Given the description of an element on the screen output the (x, y) to click on. 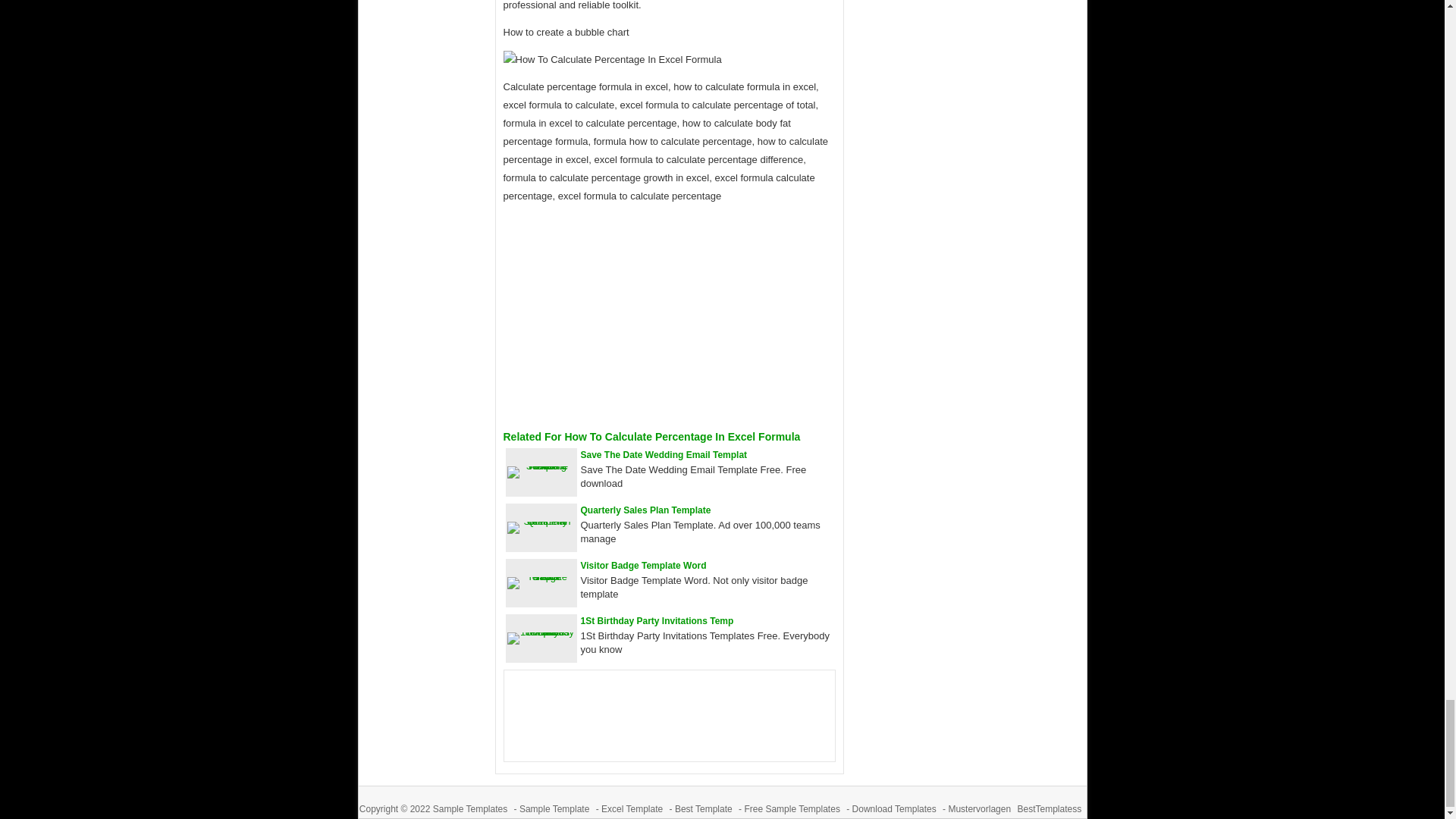
Visitor Badge Template Word (643, 565)
Save The Date Wedding Email Templat (664, 454)
Quarterly Sales Plan Template (645, 510)
1St Birthday Party Invitations Temp (656, 620)
